Given the description of an element on the screen output the (x, y) to click on. 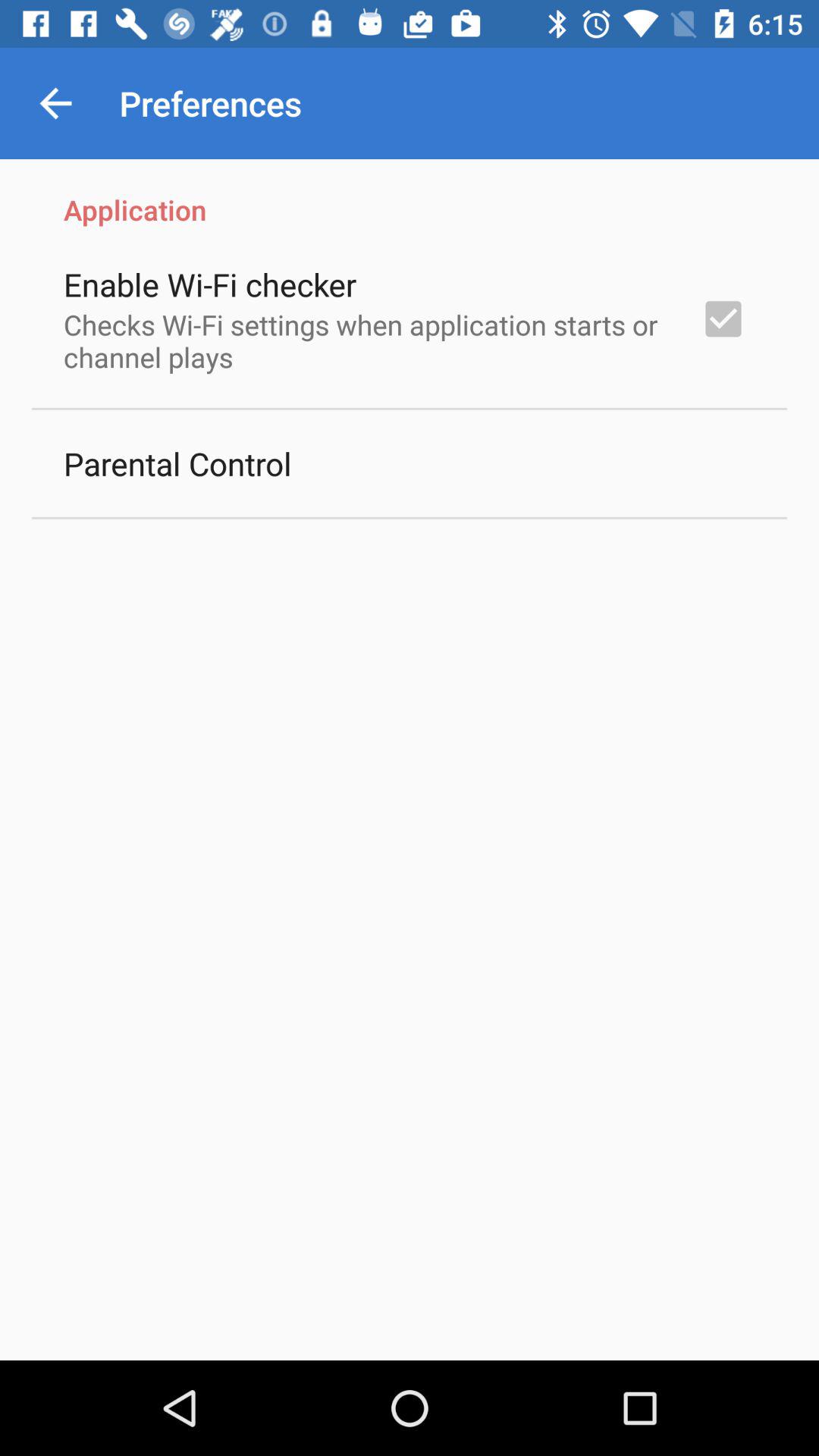
launch parental control icon (177, 463)
